Given the description of an element on the screen output the (x, y) to click on. 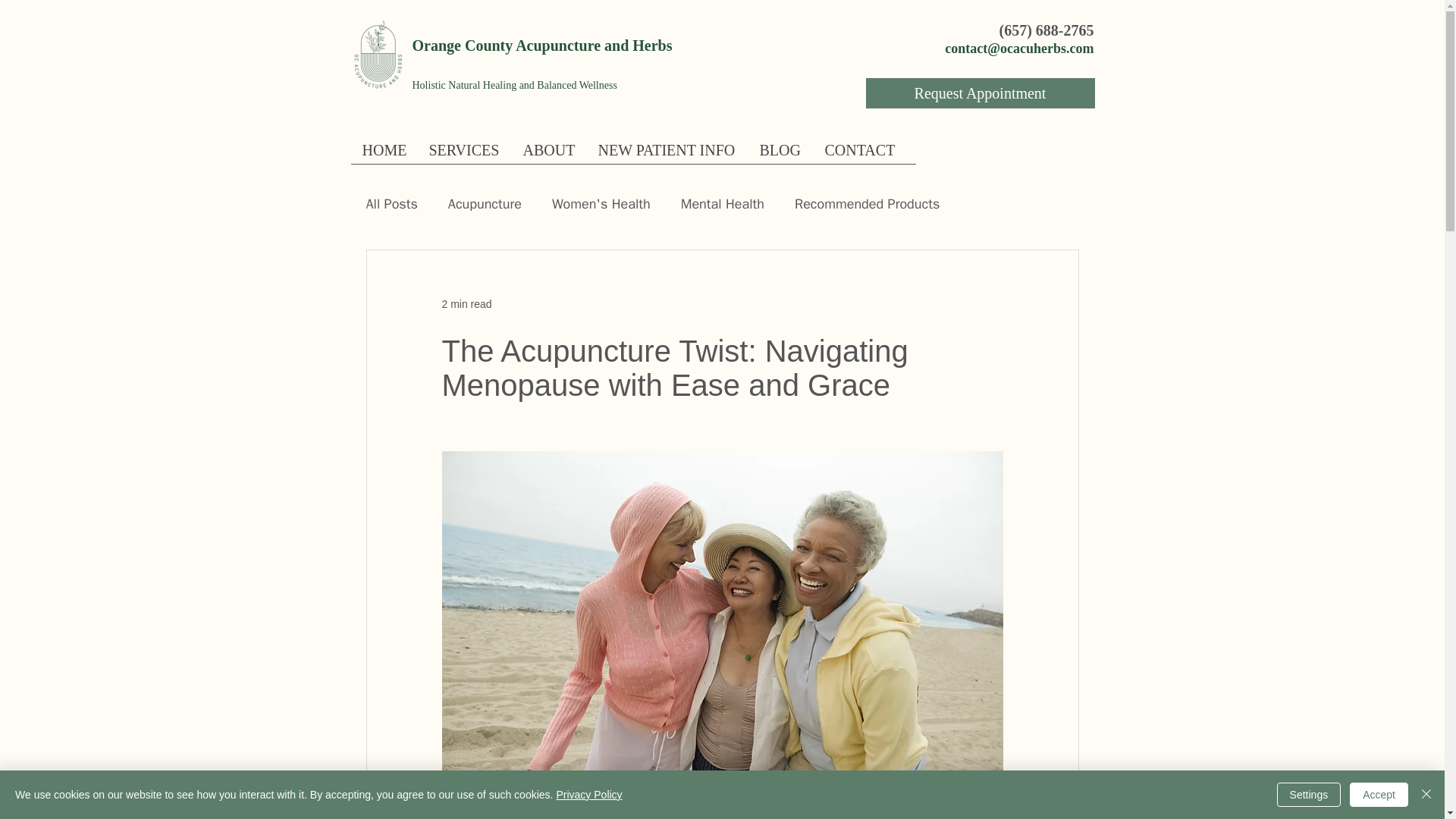
Acupuncture (484, 203)
NEW PATIENT INFO (667, 155)
All Posts (390, 203)
Request Appointment (980, 92)
Mental Health (722, 203)
CONTACT (859, 155)
Recommended Products (866, 203)
SERVICES (463, 155)
BLOG (780, 155)
ABOUT (548, 155)
